Given the description of an element on the screen output the (x, y) to click on. 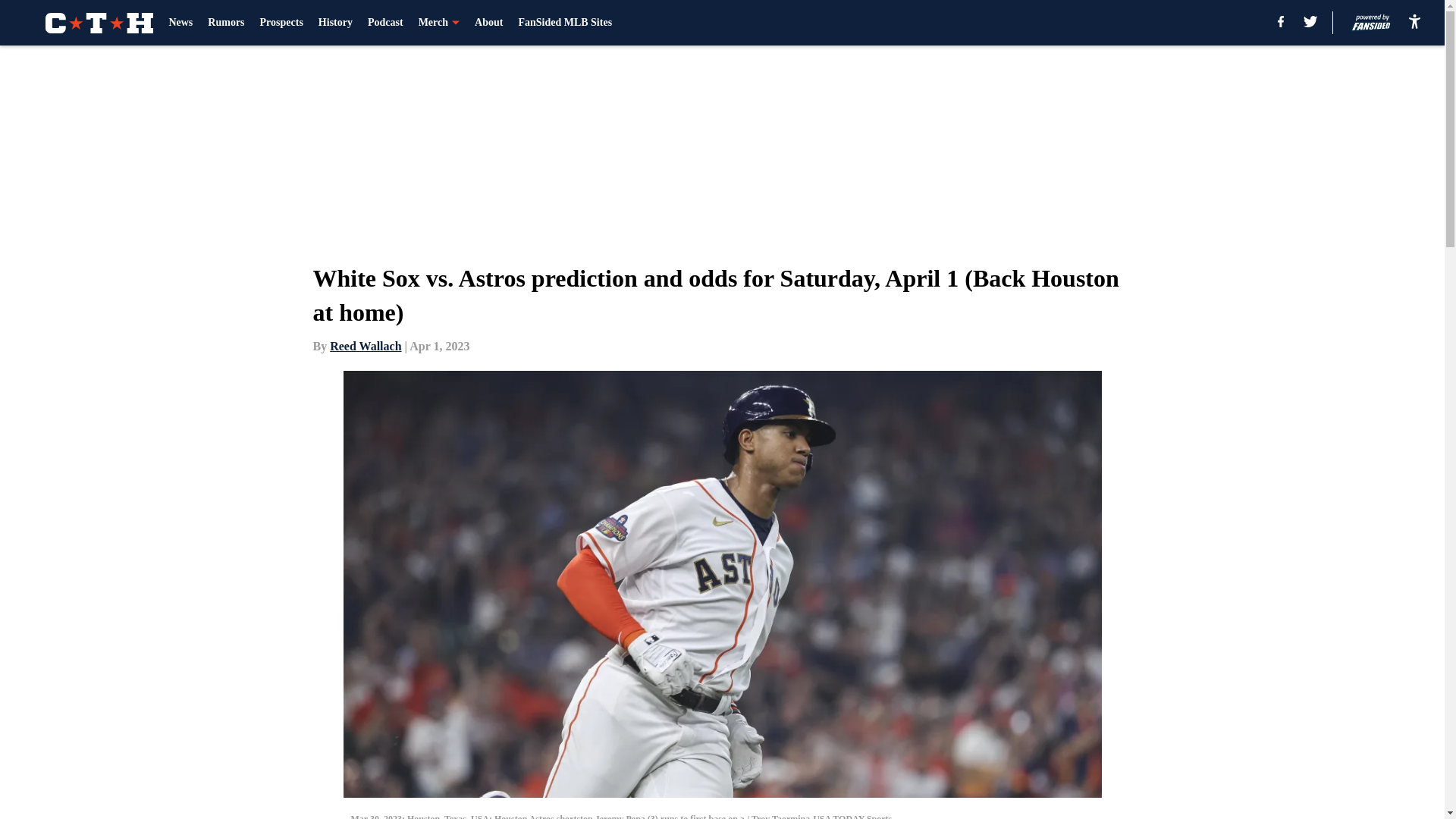
Reed Wallach (365, 345)
About (488, 22)
History (335, 22)
Prospects (281, 22)
News (180, 22)
Rumors (226, 22)
Podcast (385, 22)
FanSided MLB Sites (564, 22)
